Given the description of an element on the screen output the (x, y) to click on. 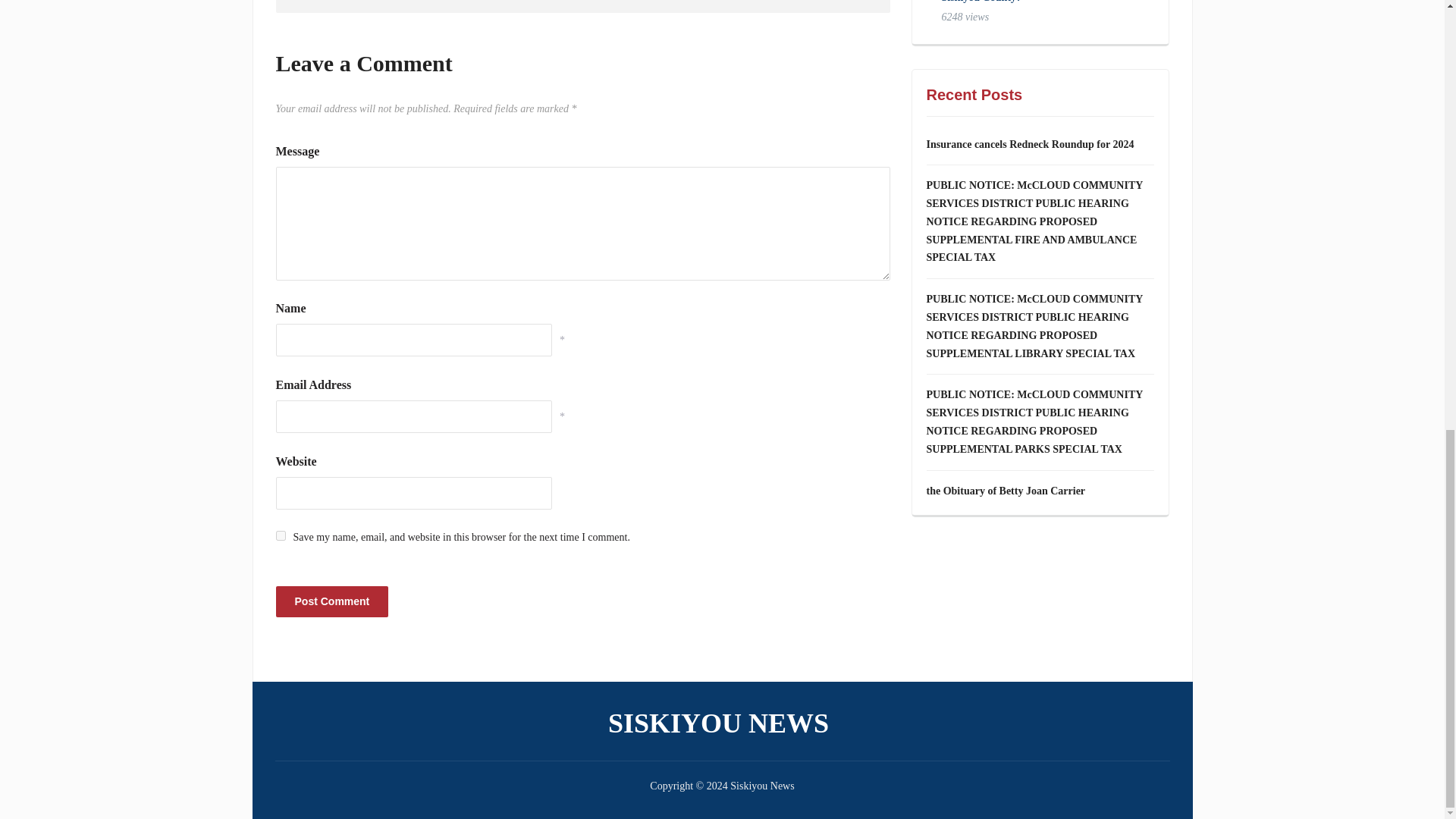
yes (280, 535)
Post Comment (332, 601)
